Given the description of an element on the screen output the (x, y) to click on. 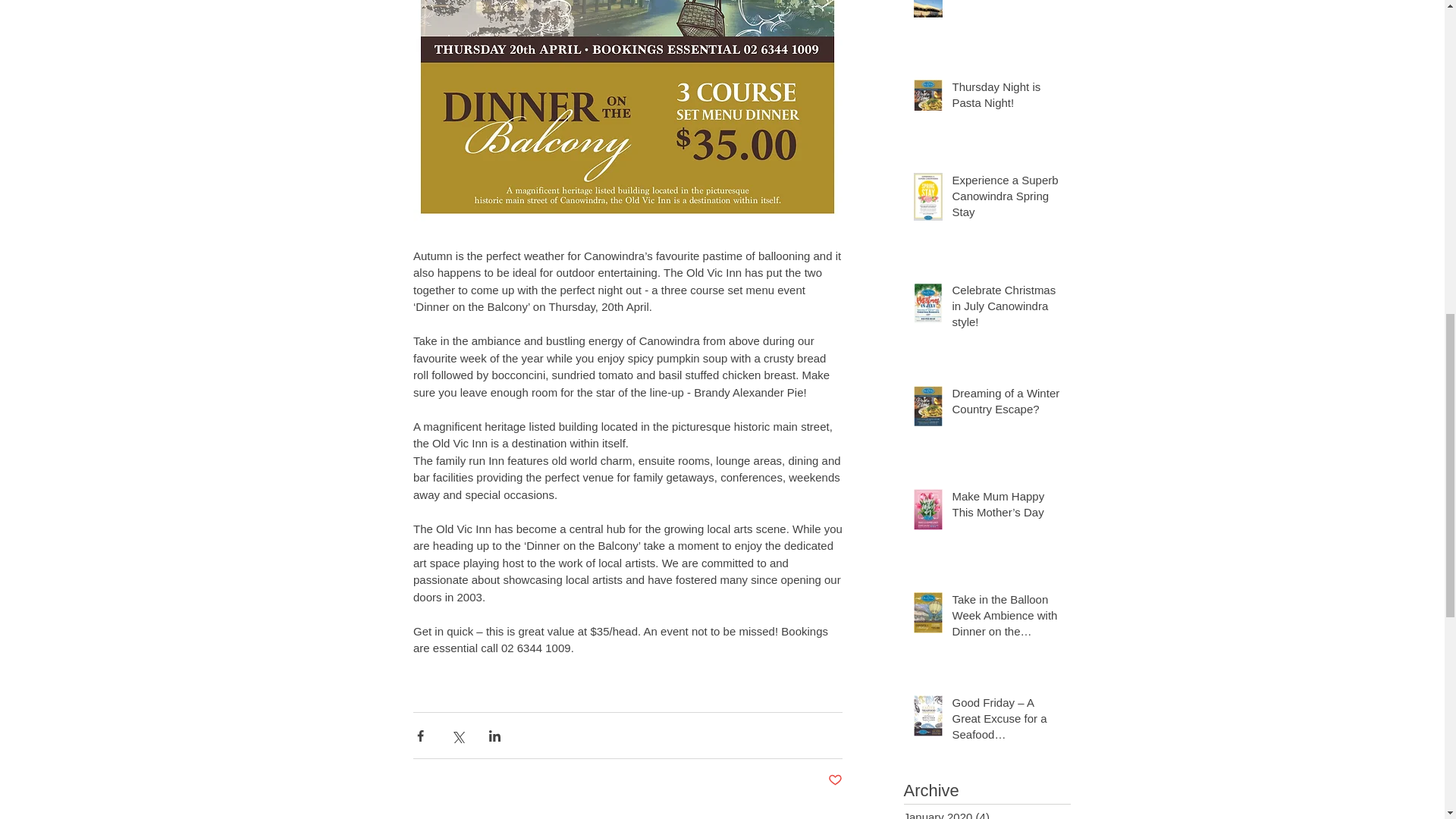
Take in the Balloon Week Ambience with Dinner on the Balcony (1006, 618)
Thursday Night is Pasta Night! (1006, 97)
Celebrate Christmas in July Canowindra style! (1006, 308)
Balloon Festival 2020 (1006, 2)
Experience a Superb Canowindra Spring Stay (1006, 198)
Post not marked as liked (835, 780)
Dreaming of a Winter Country Escape? (1006, 403)
